Given the description of an element on the screen output the (x, y) to click on. 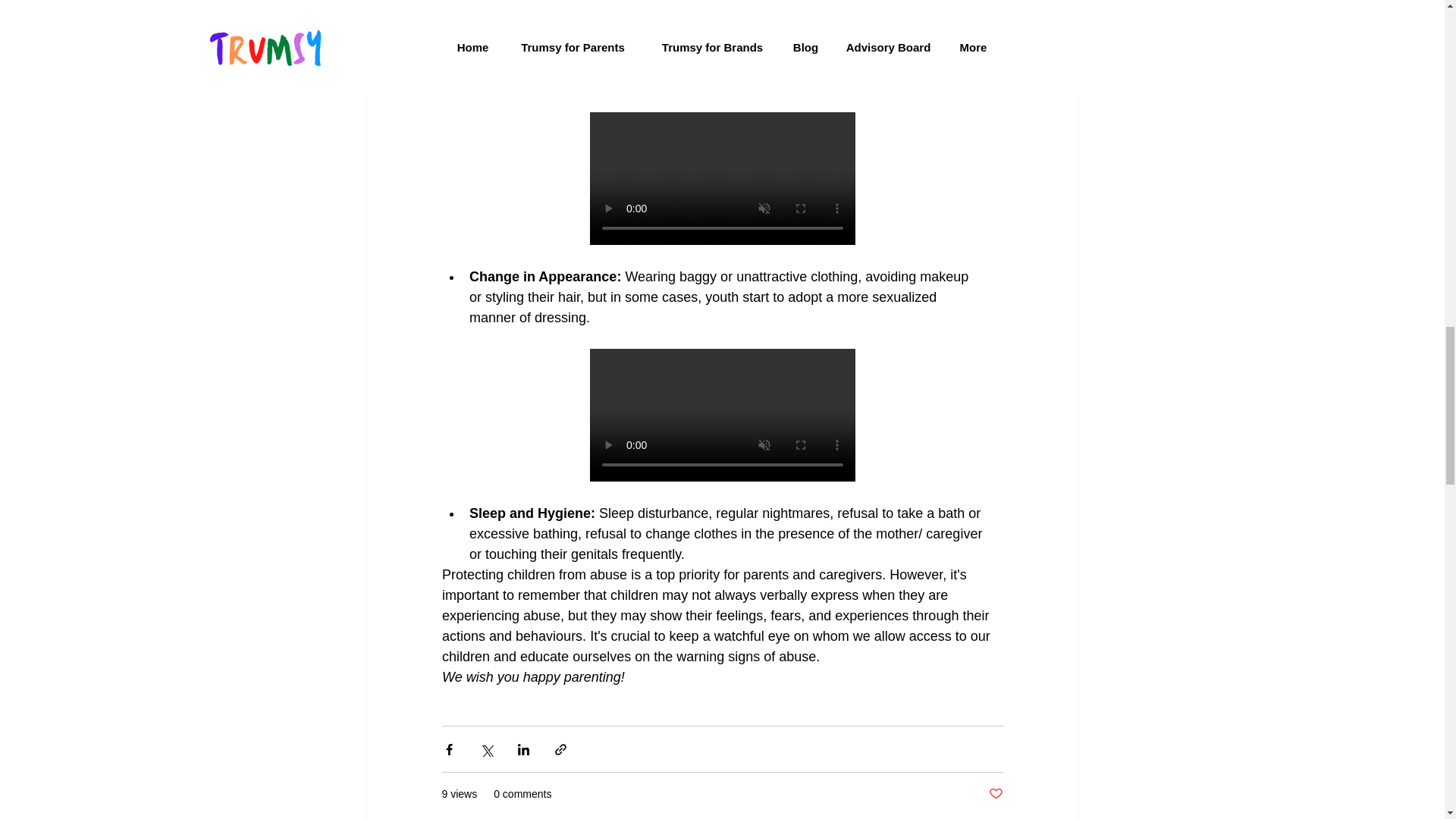
Post not marked as liked (995, 794)
